Given the description of an element on the screen output the (x, y) to click on. 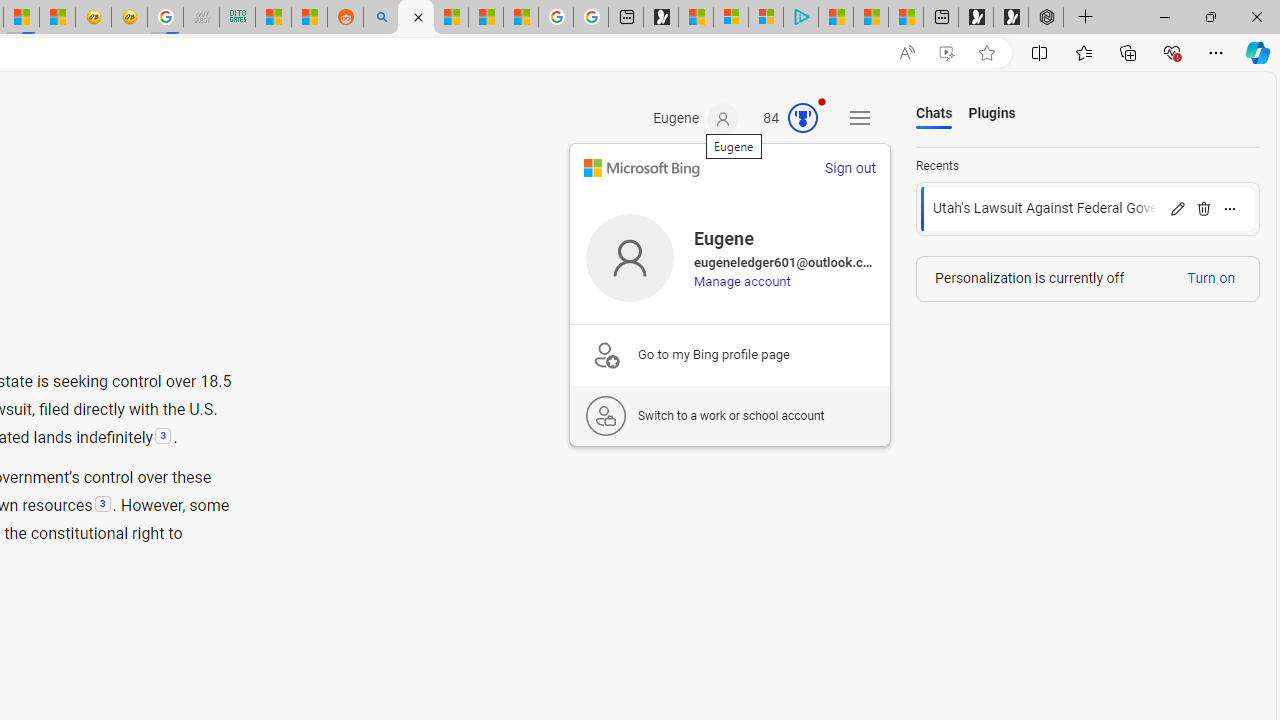
Eugene (695, 119)
Sign out (849, 168)
3:  (102, 505)
